Given the description of an element on the screen output the (x, y) to click on. 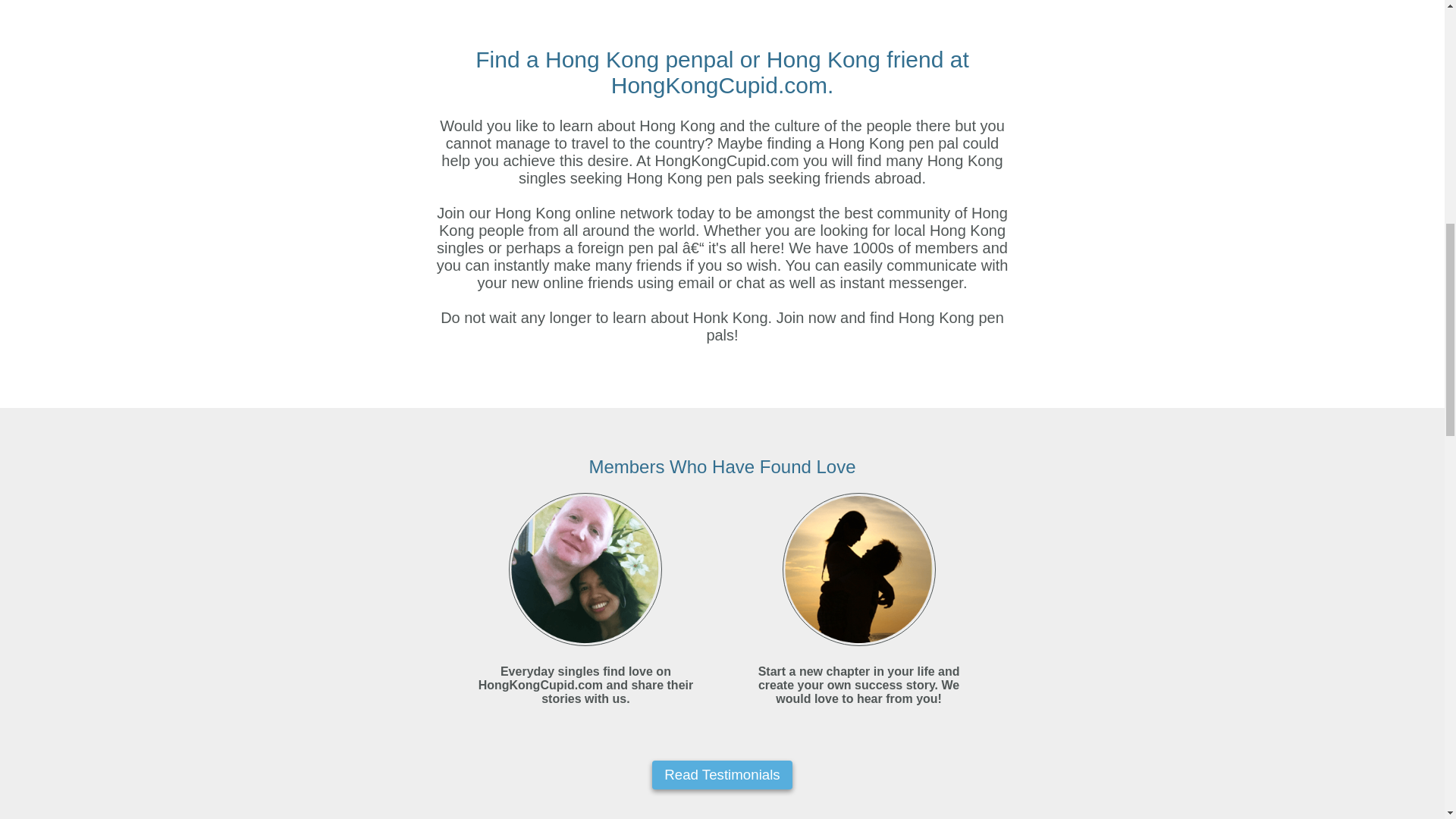
Read Testimonials (722, 774)
Join now (805, 317)
